Given the description of an element on the screen output the (x, y) to click on. 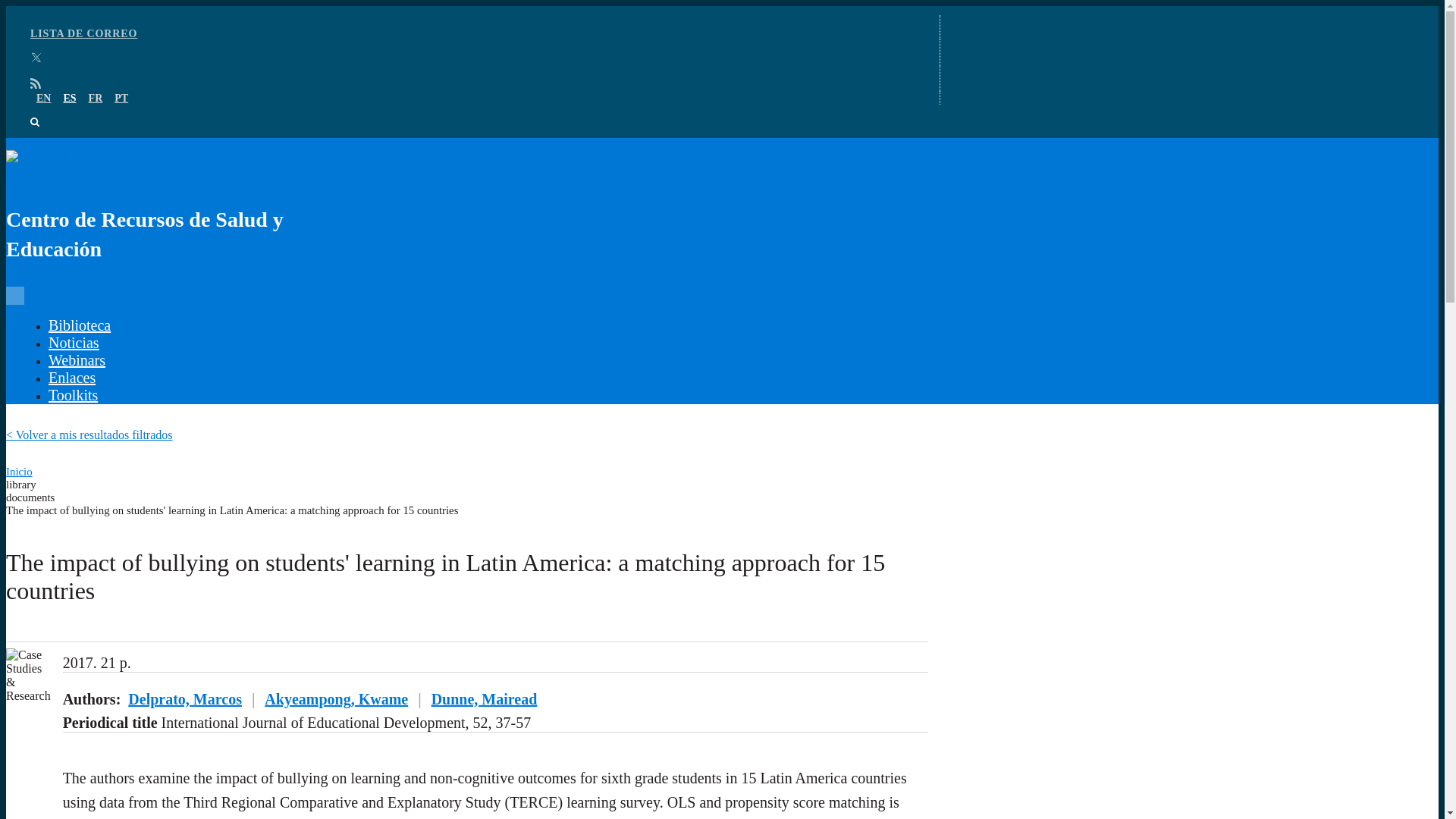
FR (95, 98)
EN (43, 98)
Dunne, Mairead (483, 699)
PT (121, 98)
Toolkits (72, 394)
Webinars (76, 360)
ES (68, 98)
Noticias (73, 342)
Enlaces (72, 377)
Inicio (18, 471)
